Given the description of an element on the screen output the (x, y) to click on. 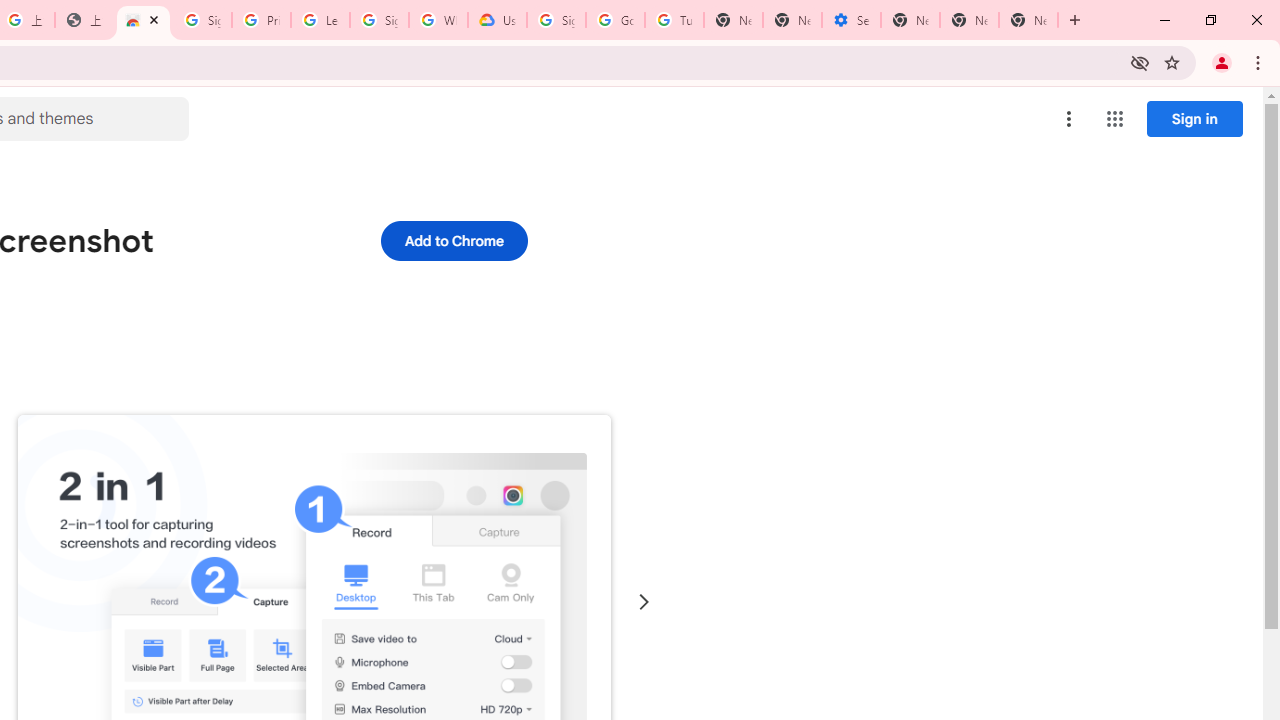
Sign in - Google Accounts (556, 20)
Sign in - Google Accounts (201, 20)
Settings - Addresses and more (850, 20)
Next slide (643, 601)
Google Account Help (615, 20)
Who are Google's partners? - Privacy and conditions - Google (438, 20)
